Given the description of an element on the screen output the (x, y) to click on. 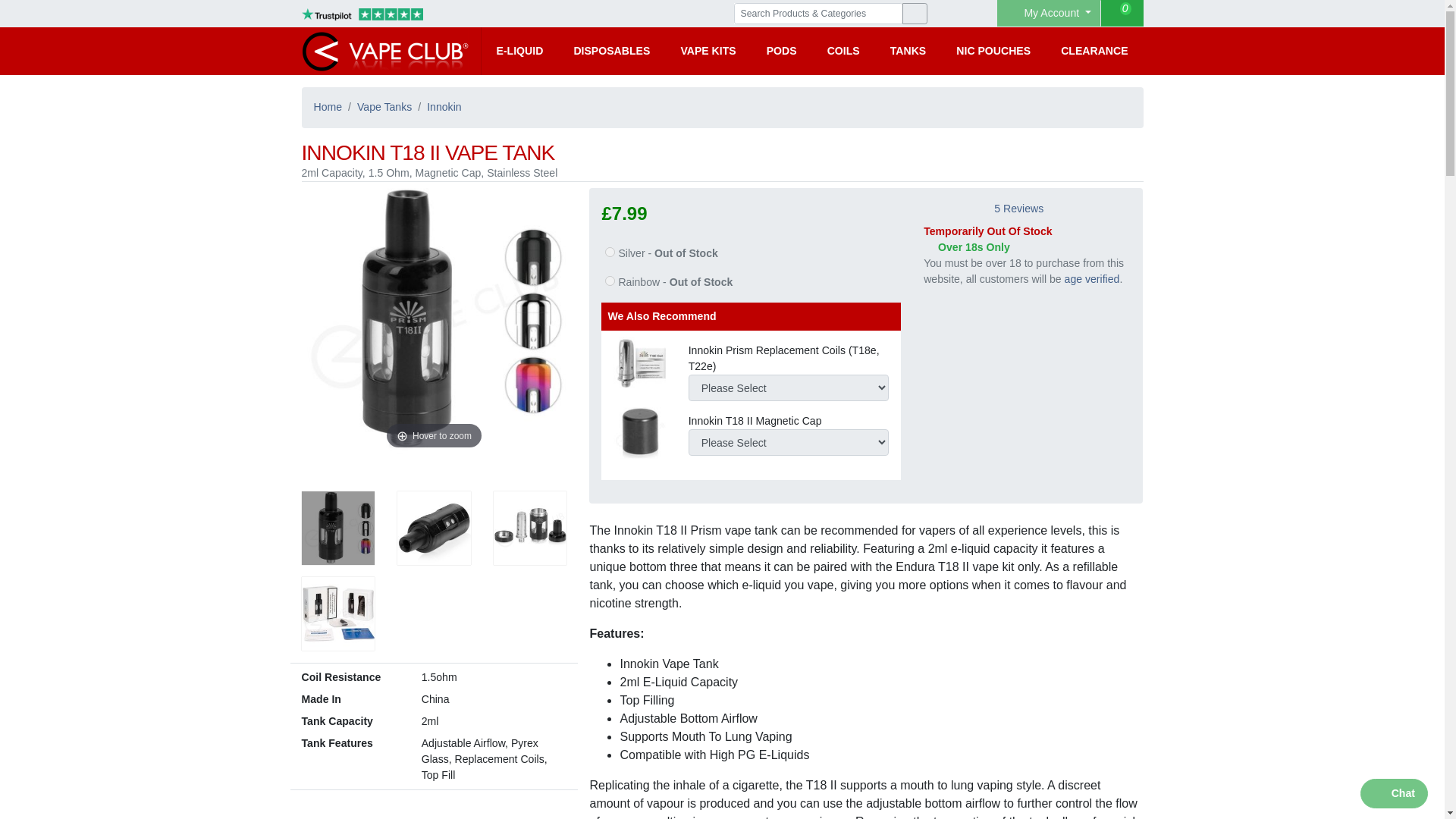
Innokin T18 II Magnetic Cap (638, 431)
0 (1121, 13)
Click to Set an Email Reminder (666, 282)
Click to Set an Email Reminder (659, 253)
25321 (609, 280)
E-LIQUID (518, 51)
25320 (609, 252)
Vape Club Logo (384, 51)
Shopping Cart (1121, 13)
My Account (1048, 13)
Search (914, 13)
